Given the description of an element on the screen output the (x, y) to click on. 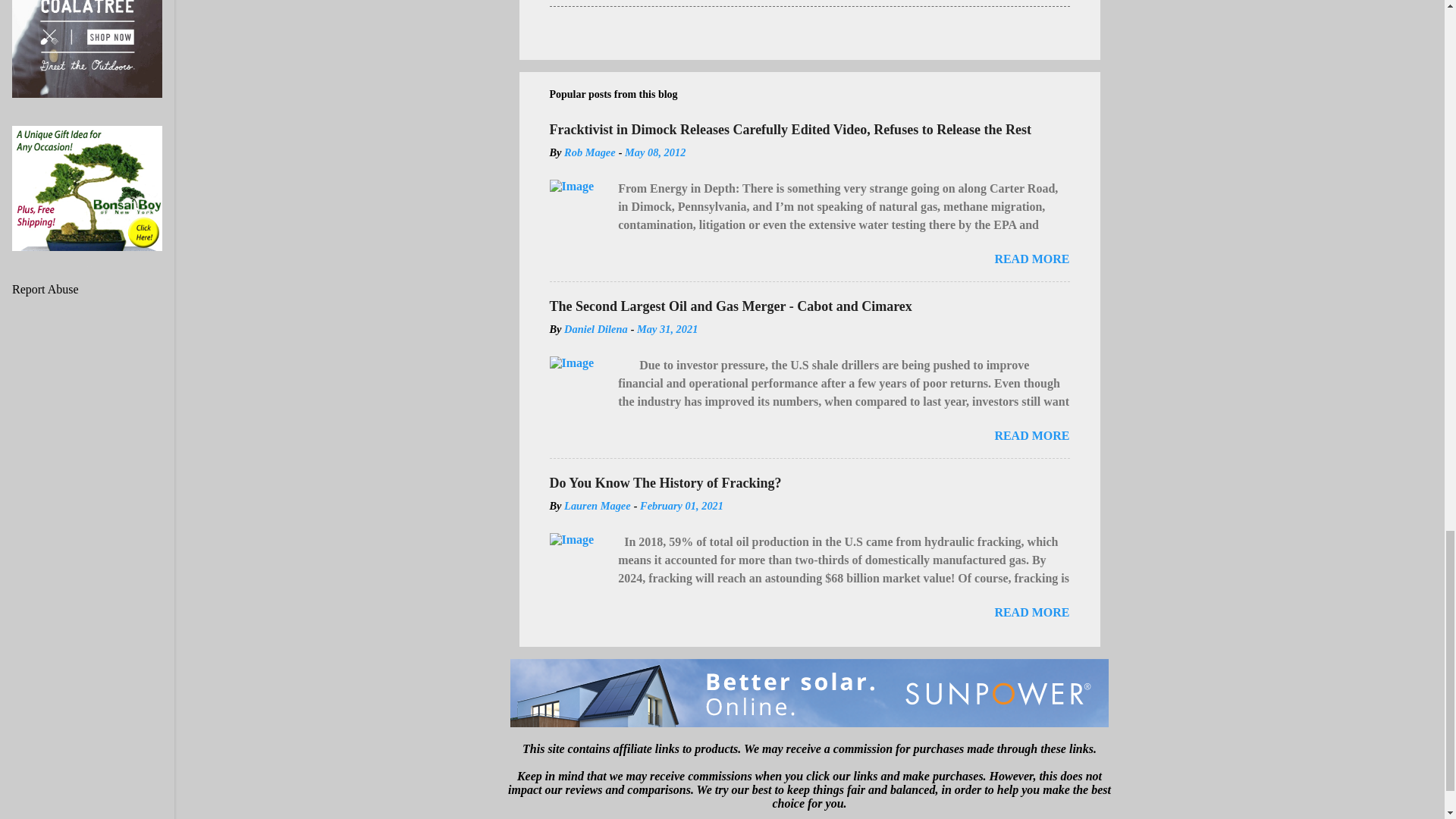
Rob Magee (589, 152)
READ MORE (1031, 612)
Daniel Dilena (595, 328)
author profile (589, 152)
May 08, 2012 (654, 152)
READ MORE (1031, 258)
February 01, 2021 (681, 505)
Lauren Magee (597, 505)
May 31, 2021 (667, 328)
The Second Largest Oil and Gas Merger - Cabot and Cimarex (729, 305)
Do You Know The History of Fracking? (664, 482)
READ MORE (1031, 435)
